Given the description of an element on the screen output the (x, y) to click on. 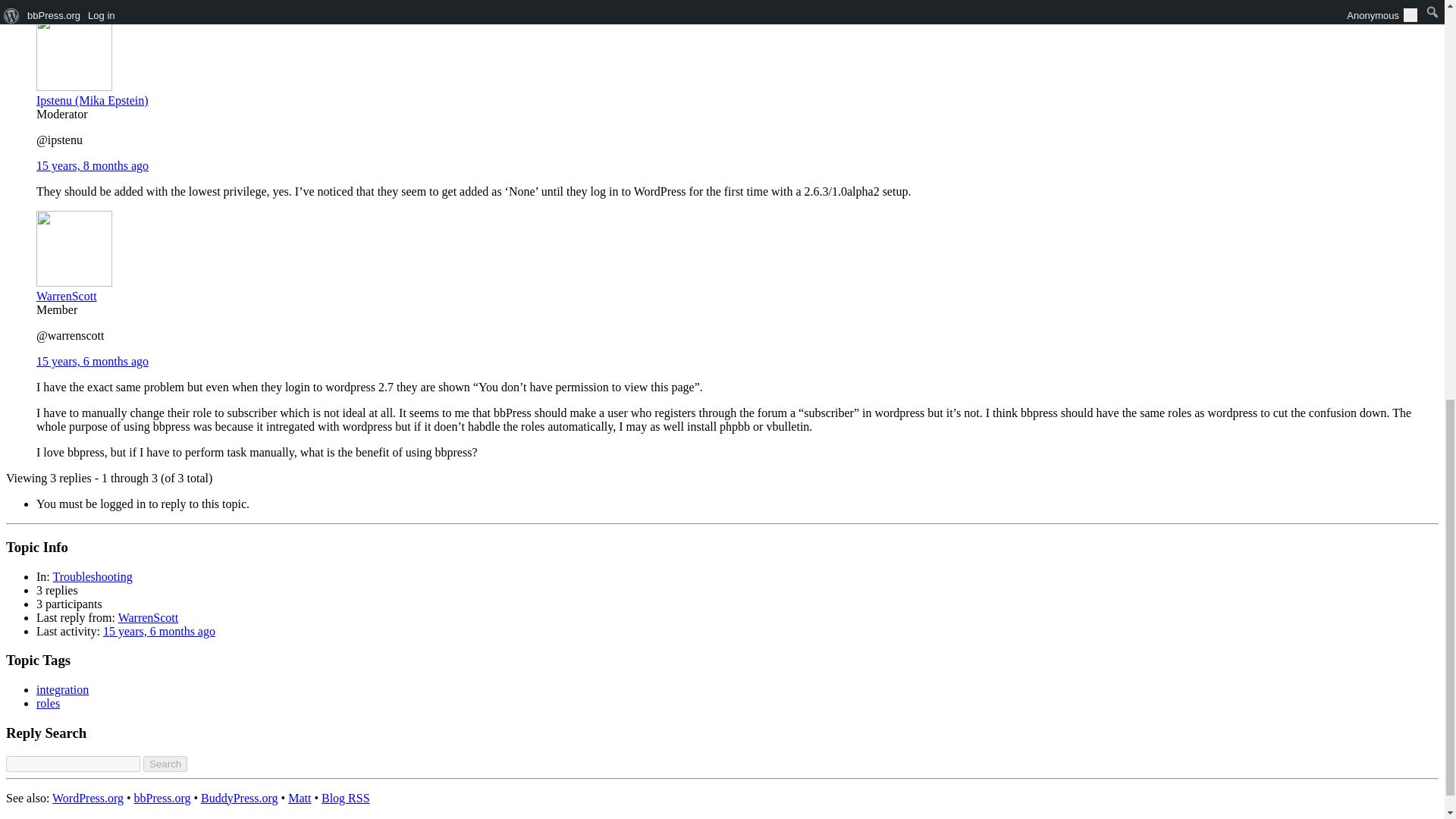
bbPress.org (161, 797)
WarrenScott (74, 289)
Search (164, 763)
Blog RSS (345, 797)
15 years, 8 months ago (92, 164)
WarrenScott (148, 617)
BuddyPress.org (239, 797)
Troubleshooting (92, 576)
15 years, 6 months ago (92, 360)
integration (62, 689)
WordPress.org (87, 797)
Search (164, 763)
Matt (299, 797)
15 years, 6 months ago (159, 631)
roles (47, 703)
